Given the description of an element on the screen output the (x, y) to click on. 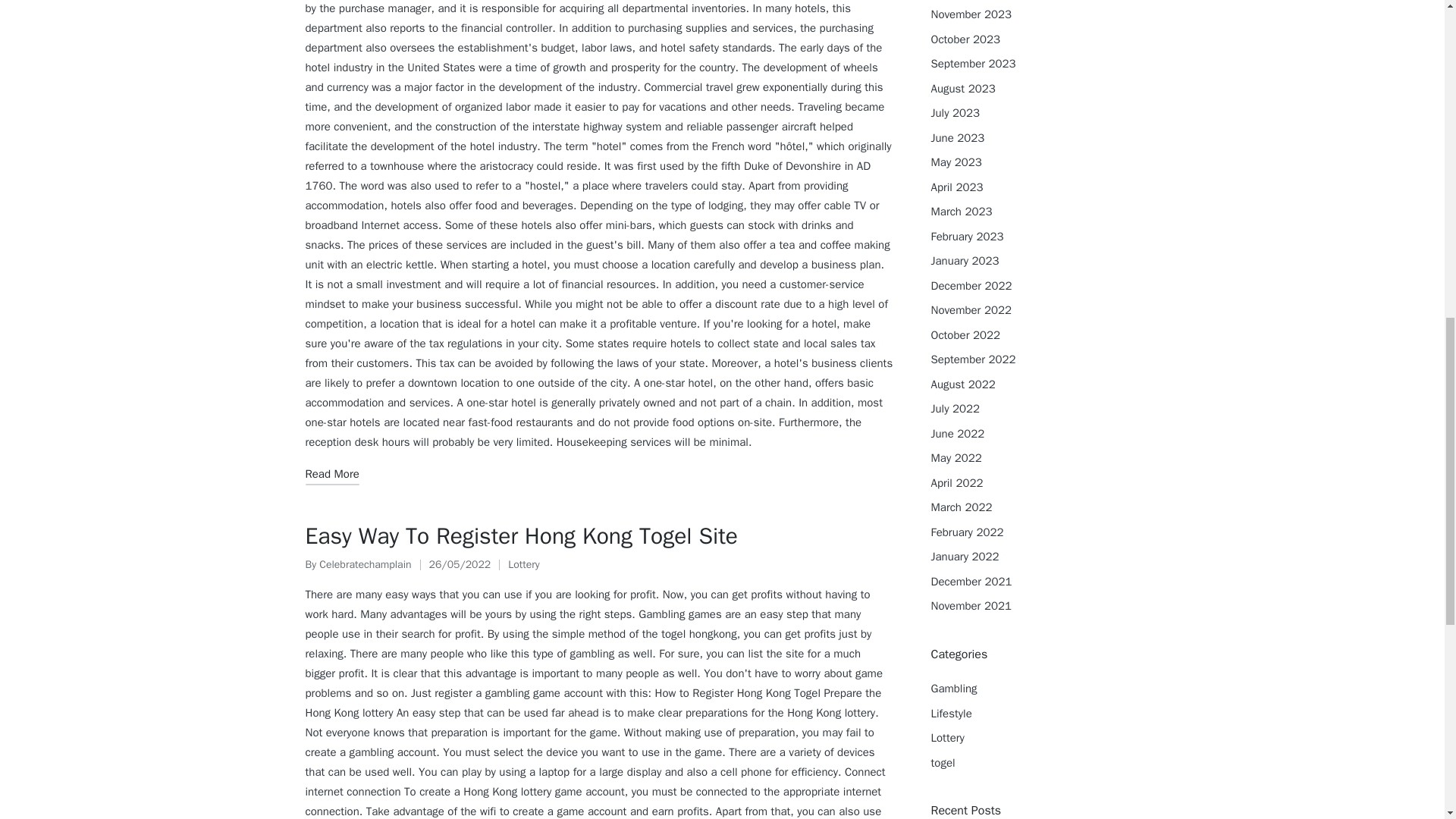
View all posts by Celebratechamplain (364, 563)
Easy Way To Register Hong Kong Togel Site (521, 535)
Lottery (523, 563)
Read More (331, 474)
Easy Way To Register Hong Kong Togel Site (521, 535)
Celebratechamplain (364, 563)
